Given the description of an element on the screen output the (x, y) to click on. 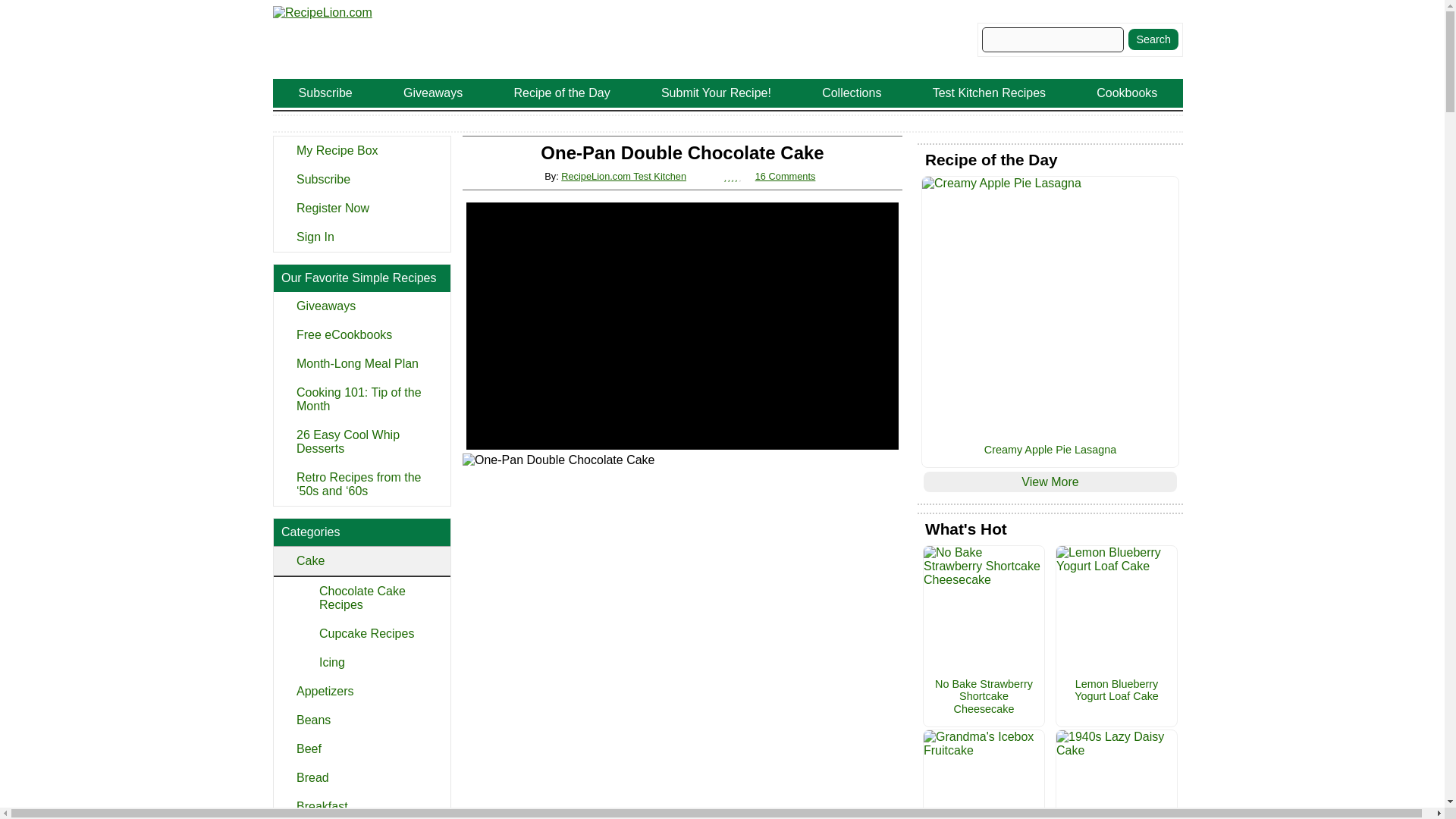
Sign In (361, 236)
Register Now (361, 208)
Subscribe (361, 179)
My Recipe Box (361, 150)
Search (1152, 38)
